Given the description of an element on the screen output the (x, y) to click on. 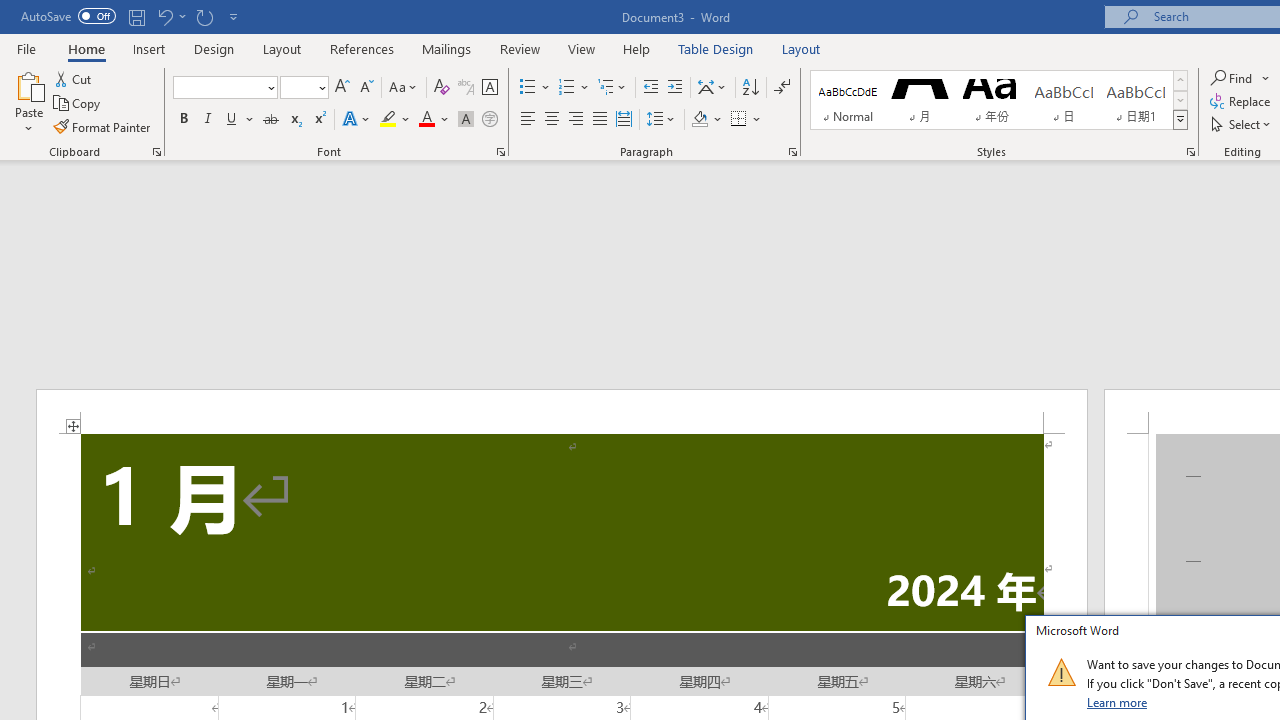
Paste (28, 102)
Multilevel List (613, 87)
Decrease Indent (650, 87)
Undo Apply Quick Style (164, 15)
Increase Indent (675, 87)
Sort... (750, 87)
Undo Apply Quick Style (170, 15)
Bullets (527, 87)
Phonetic Guide... (465, 87)
Text Effects and Typography (357, 119)
Align Right (575, 119)
Cut (73, 78)
Numbering (573, 87)
Row up (1179, 79)
Design (214, 48)
